Given the description of an element on the screen output the (x, y) to click on. 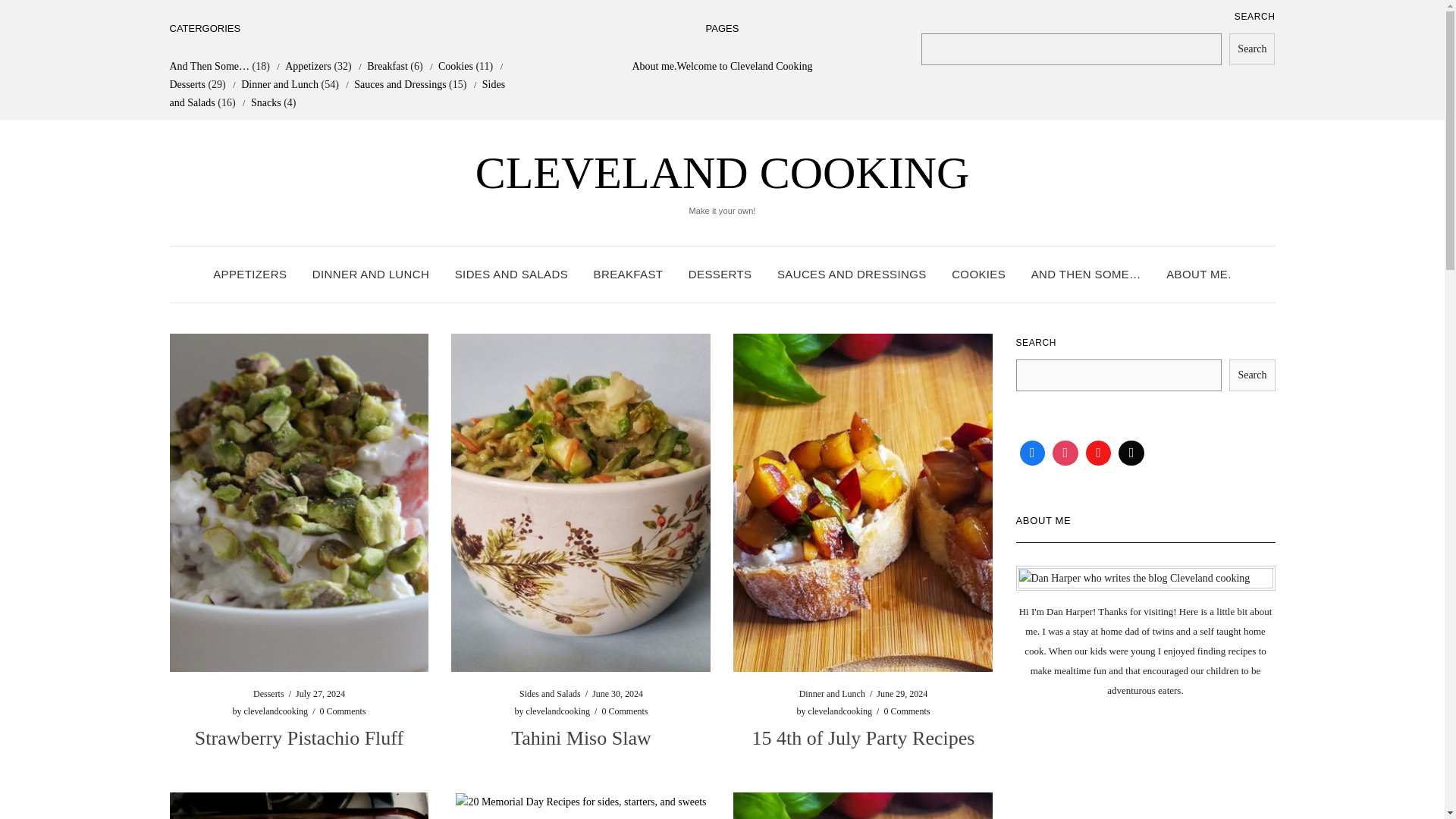
Desserts (268, 693)
Facebook (1032, 453)
Sides and Salads (549, 693)
Cookies (455, 66)
Dinner and Lunch (831, 693)
DINNER AND LUNCH (371, 274)
Snacks (265, 102)
15 4th of July Party Recipes (863, 738)
COOKIES (979, 274)
Instagram (1064, 453)
